Given the description of an element on the screen output the (x, y) to click on. 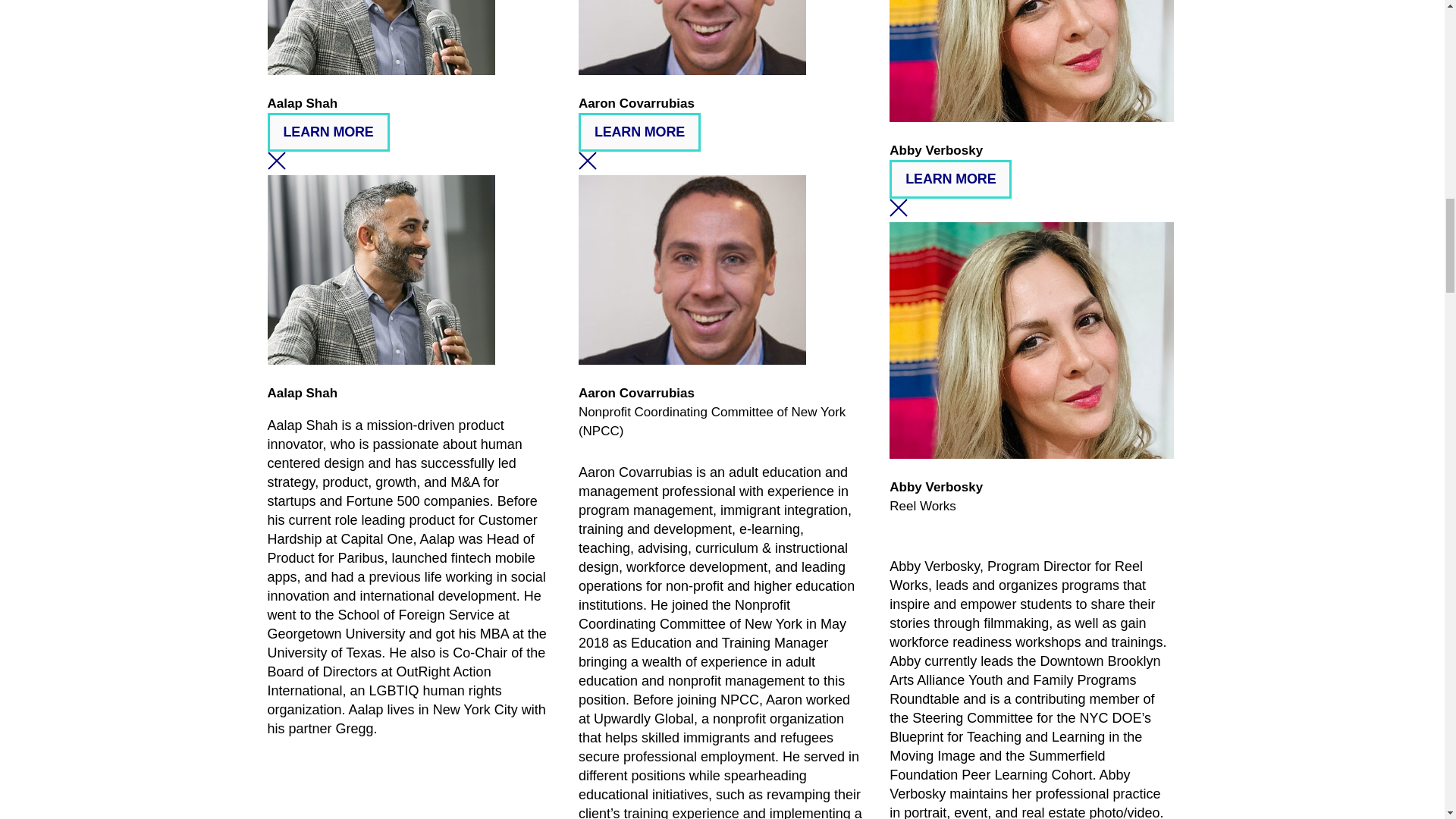
LEARN MORE (327, 132)
LEARN MORE (639, 132)
LEARN MORE (950, 179)
